Given the description of an element on the screen output the (x, y) to click on. 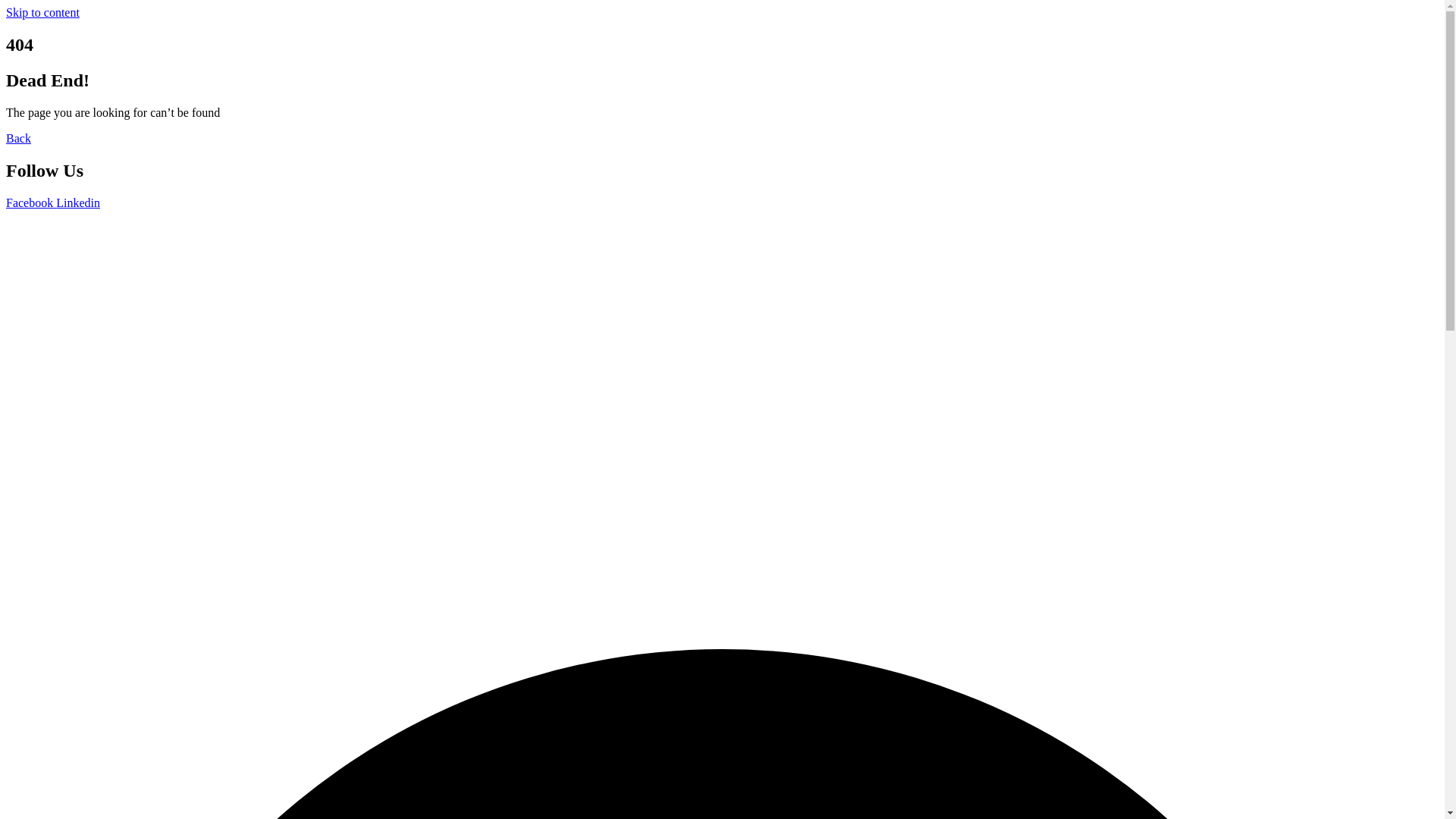
Back Element type: text (18, 137)
Skip to content Element type: text (42, 12)
Linkedin Element type: text (78, 202)
Facebook Element type: text (31, 202)
